Given the description of an element on the screen output the (x, y) to click on. 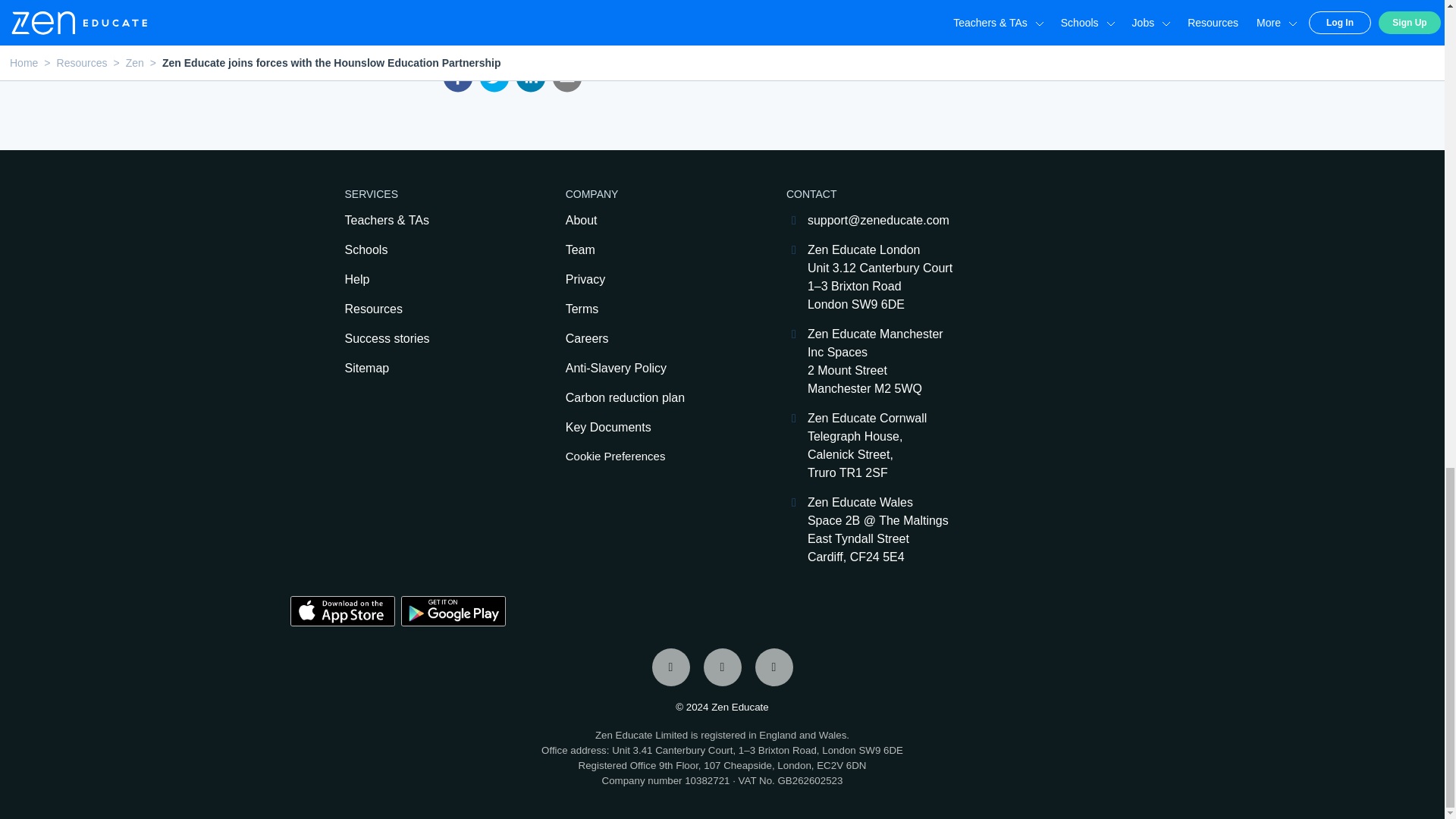
Cookie Preferences (649, 456)
Resources (427, 309)
Terms (649, 309)
Privacy (649, 280)
Schools (427, 249)
Success stories (427, 339)
Carbon reduction plan (649, 398)
About (649, 220)
Sitemap (427, 368)
Help (427, 280)
Careers (649, 339)
Anti-Slavery Policy (649, 368)
Key Documents (649, 427)
